Given the description of an element on the screen output the (x, y) to click on. 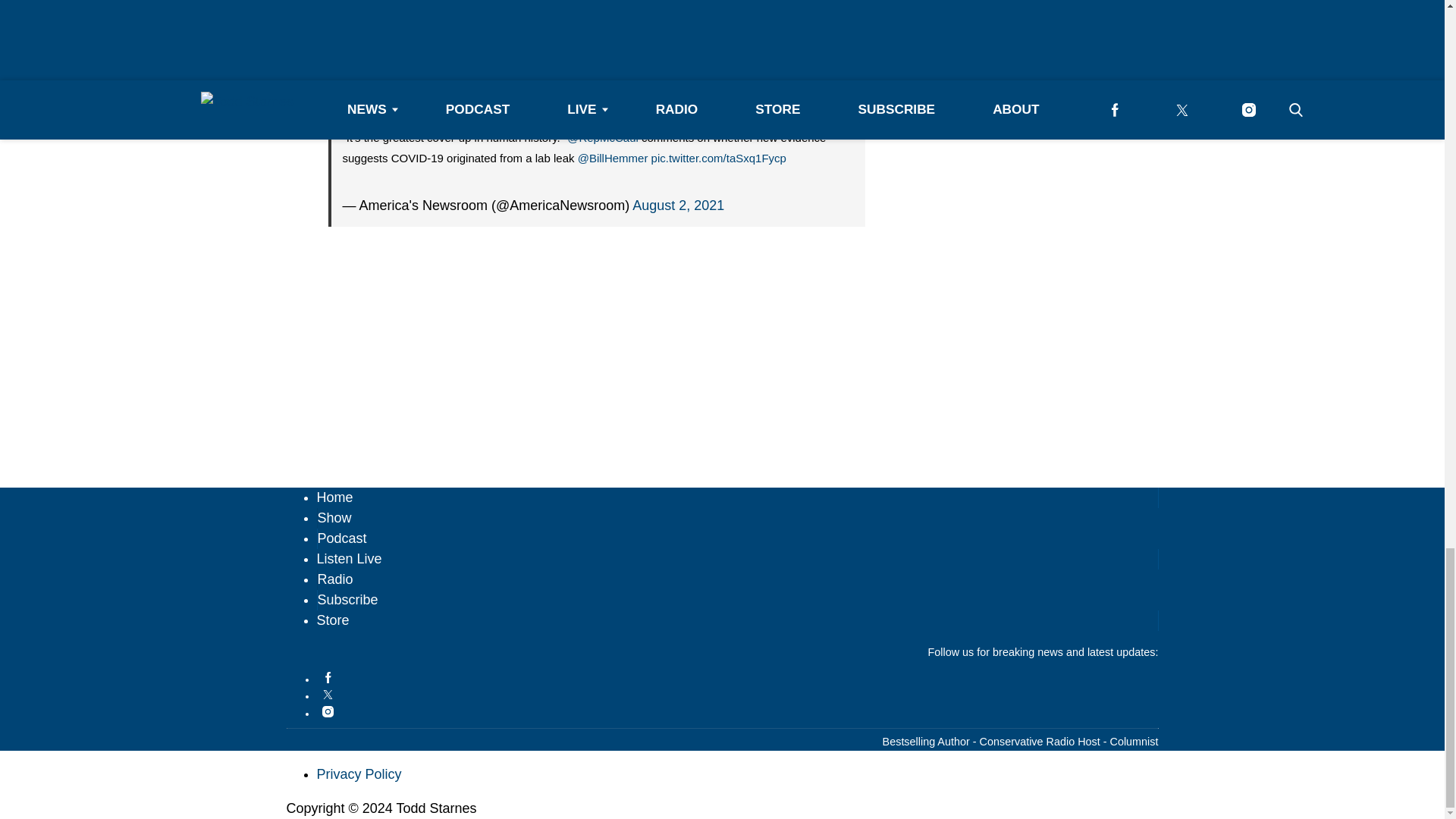
Radio (334, 579)
Listen Live (349, 558)
Show (333, 517)
Subscribe (347, 599)
Follow us on Instagram (737, 711)
Home (335, 497)
Podcast (341, 538)
Follow us on Facebook (737, 677)
August 2, 2021 (677, 205)
Follow us on Twitter (737, 694)
